Given the description of an element on the screen output the (x, y) to click on. 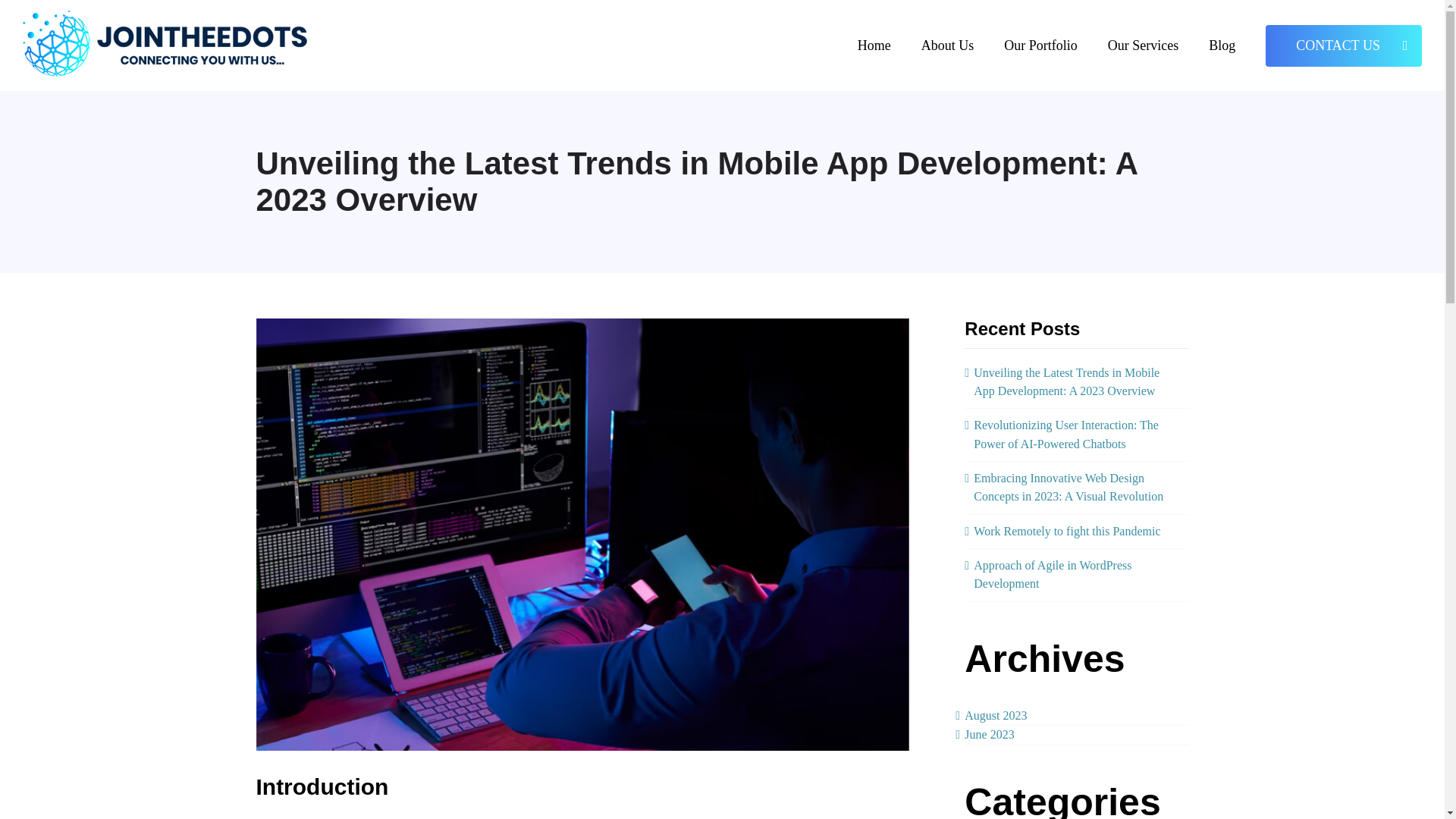
June 2023 (988, 734)
CONTACT US (1343, 45)
August 2023 (994, 715)
Approach of Agile in WordPress Development (1052, 573)
Work Remotely to fight this Pandemic (1067, 530)
